Given the description of an element on the screen output the (x, y) to click on. 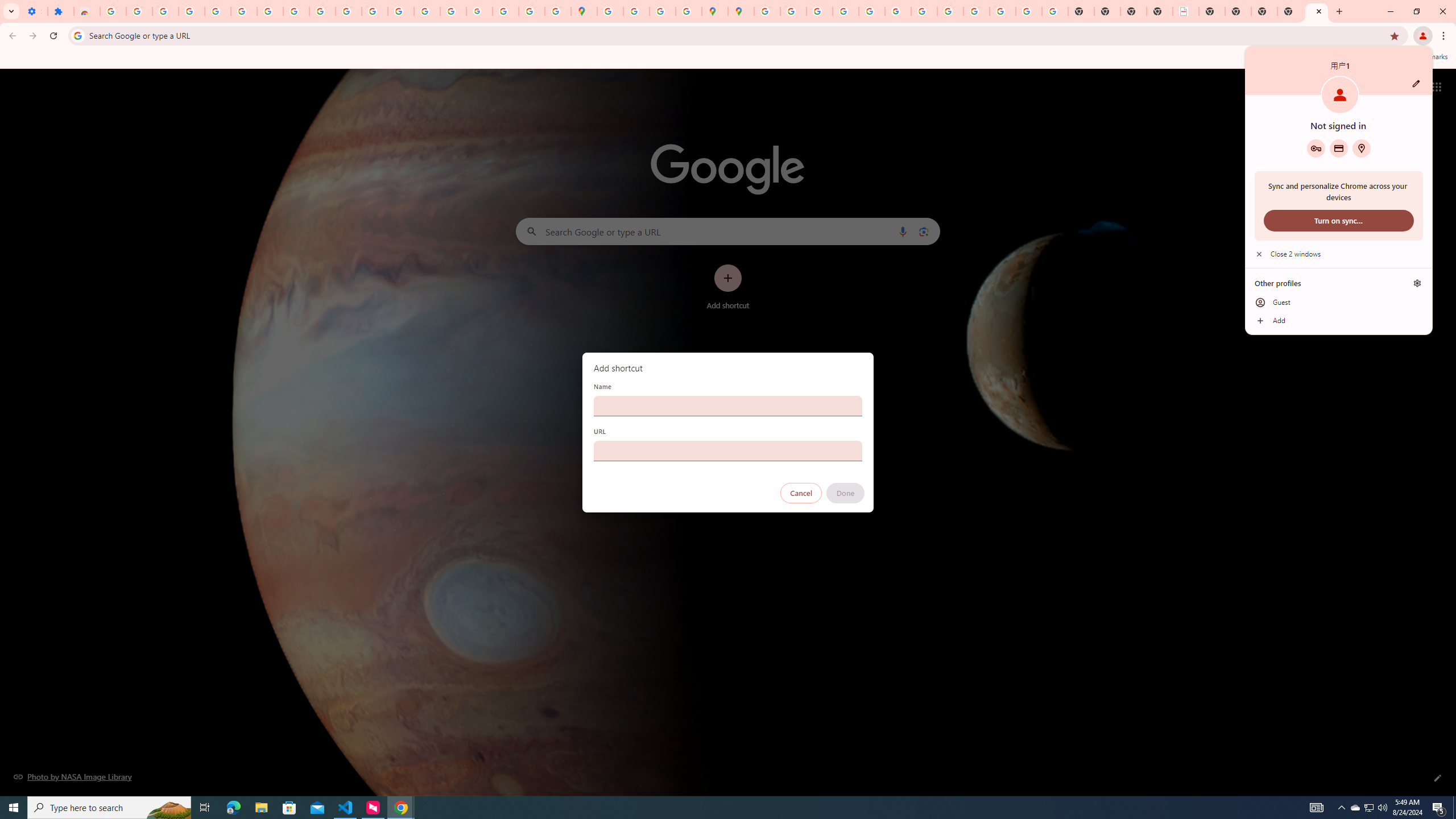
Q2790: 100% (1382, 807)
AutomationID: 4105 (1316, 807)
New Tab (1355, 807)
Addresses and more (1290, 11)
Type here to search (1361, 148)
Name (108, 807)
User Promoted Notification Area (727, 405)
Task View (1368, 807)
YouTube (204, 807)
